Given the description of an element on the screen output the (x, y) to click on. 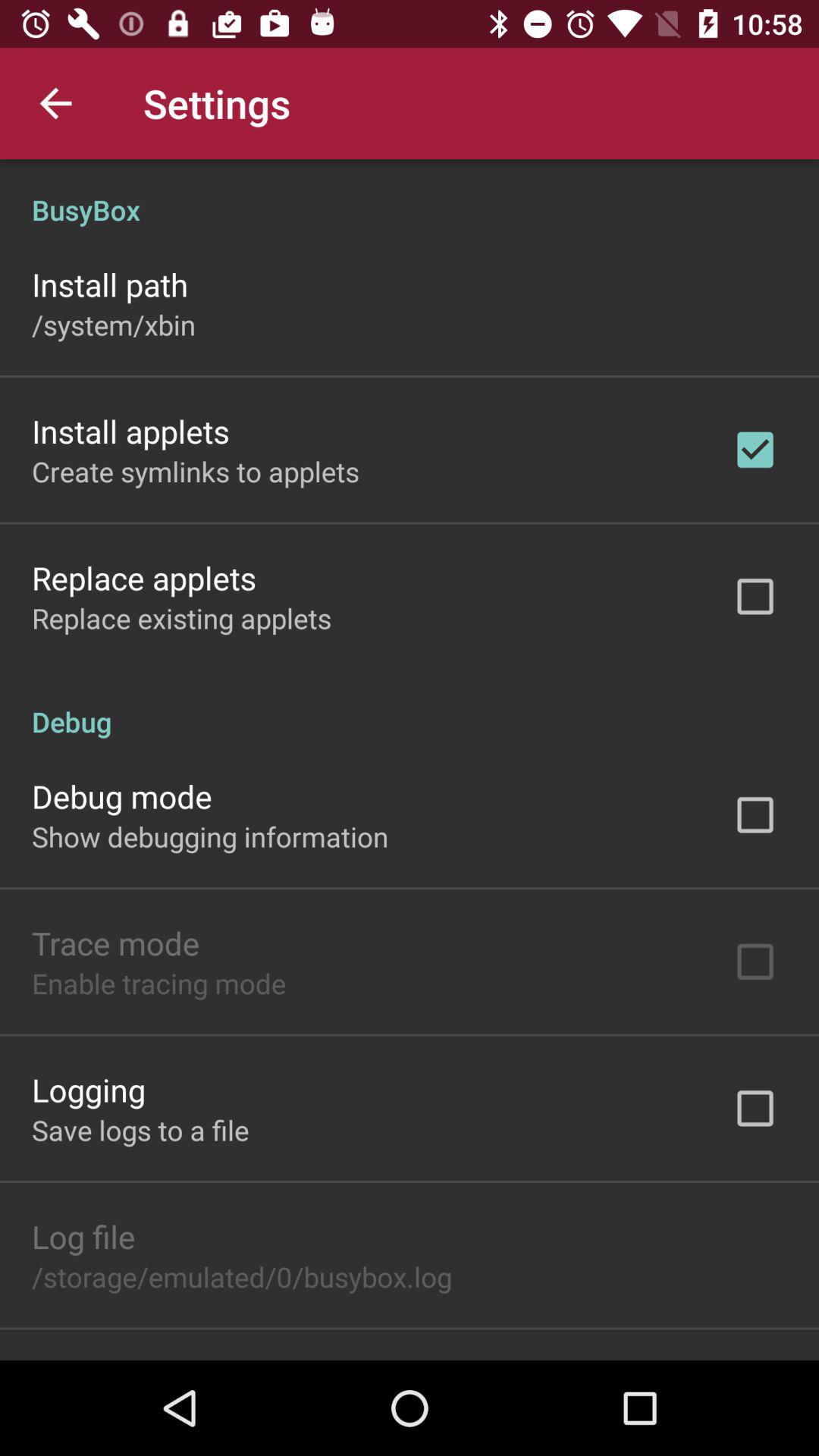
launch logging icon (88, 1089)
